Given the description of an element on the screen output the (x, y) to click on. 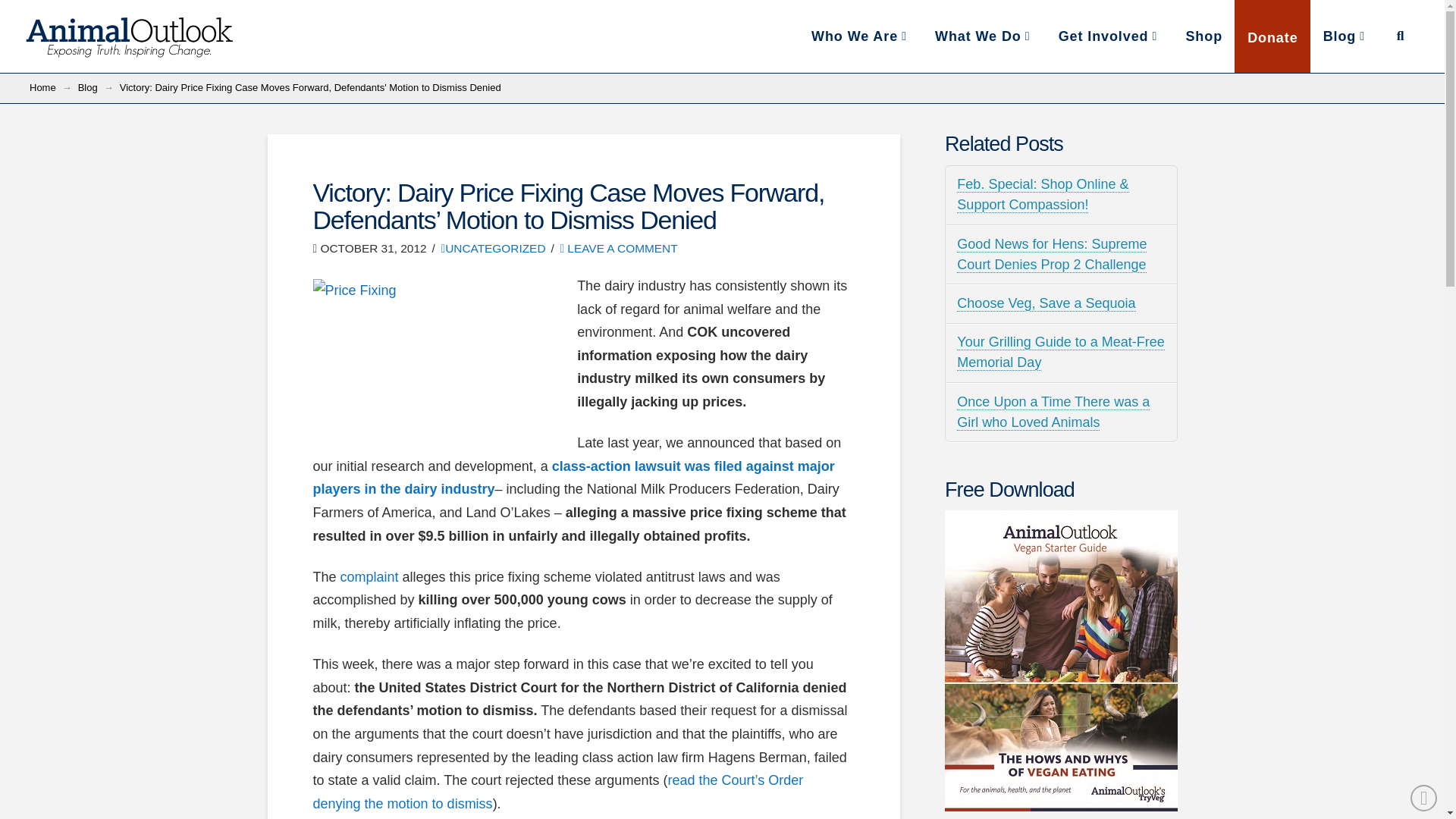
You Are Here (309, 88)
UNCATEGORIZED (493, 247)
Donate (1272, 36)
LEAVE A COMMENT (618, 247)
Get Involved (1109, 36)
What We Do (983, 36)
Who We Are (42, 88)
Blog (859, 36)
Blog (722, 36)
